Given the description of an element on the screen output the (x, y) to click on. 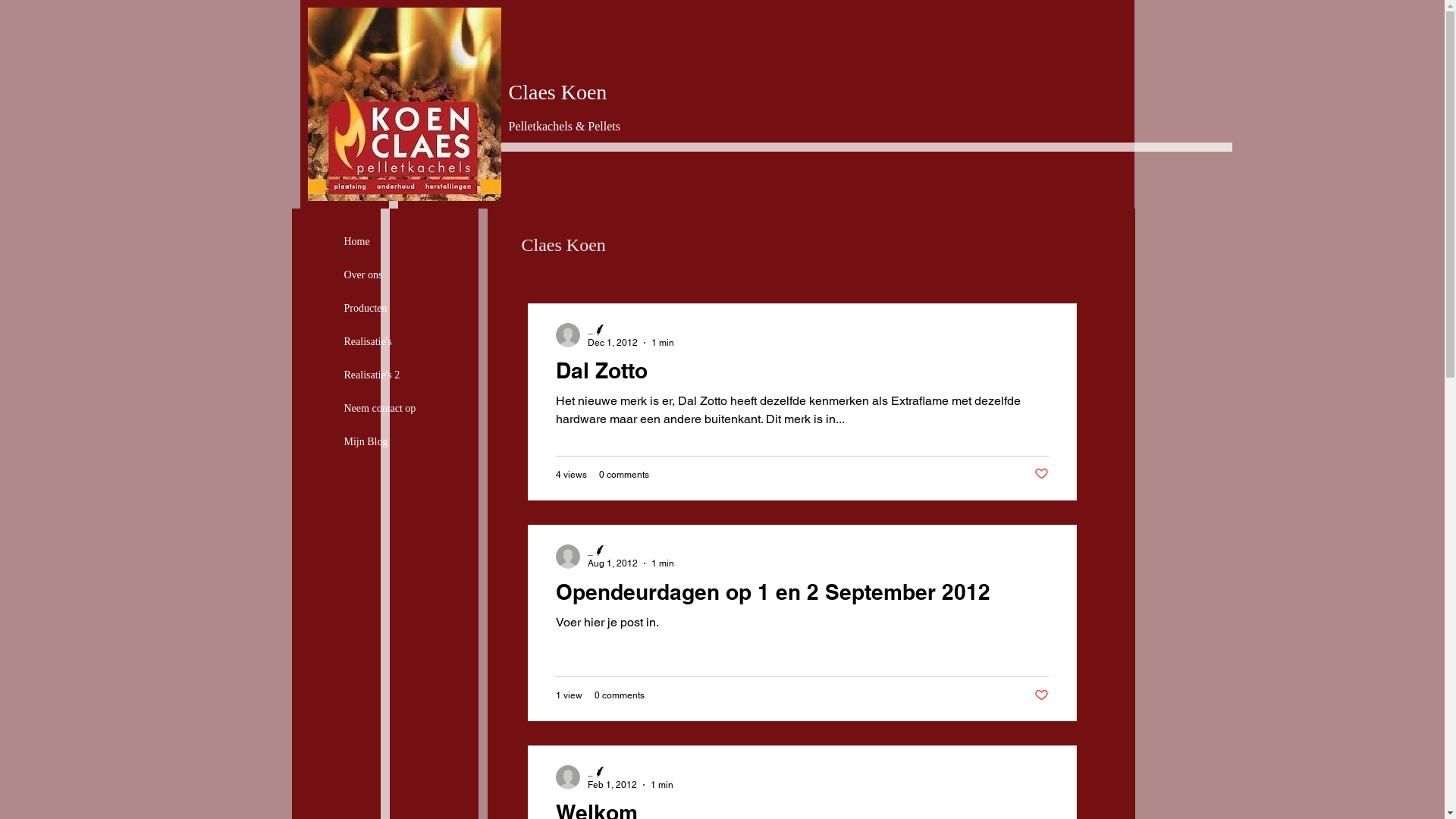
Realisatie's 2 Element type: text (371, 374)
Post not marked as liked Element type: text (1041, 694)
Over ons Element type: text (363, 274)
Producten Element type: text (365, 307)
Neem contact op Element type: text (379, 407)
Realisatie's Element type: text (367, 341)
Dal Zotto Element type: text (801, 374)
Home Element type: text (356, 241)
0 comments Element type: text (619, 695)
Opendeurdagen op 1 en 2 September 2012 Element type: text (801, 594)
Post not marked as liked Element type: text (1041, 474)
Mijn Blog Element type: text (365, 441)
0 comments Element type: text (624, 473)
